Given the description of an element on the screen output the (x, y) to click on. 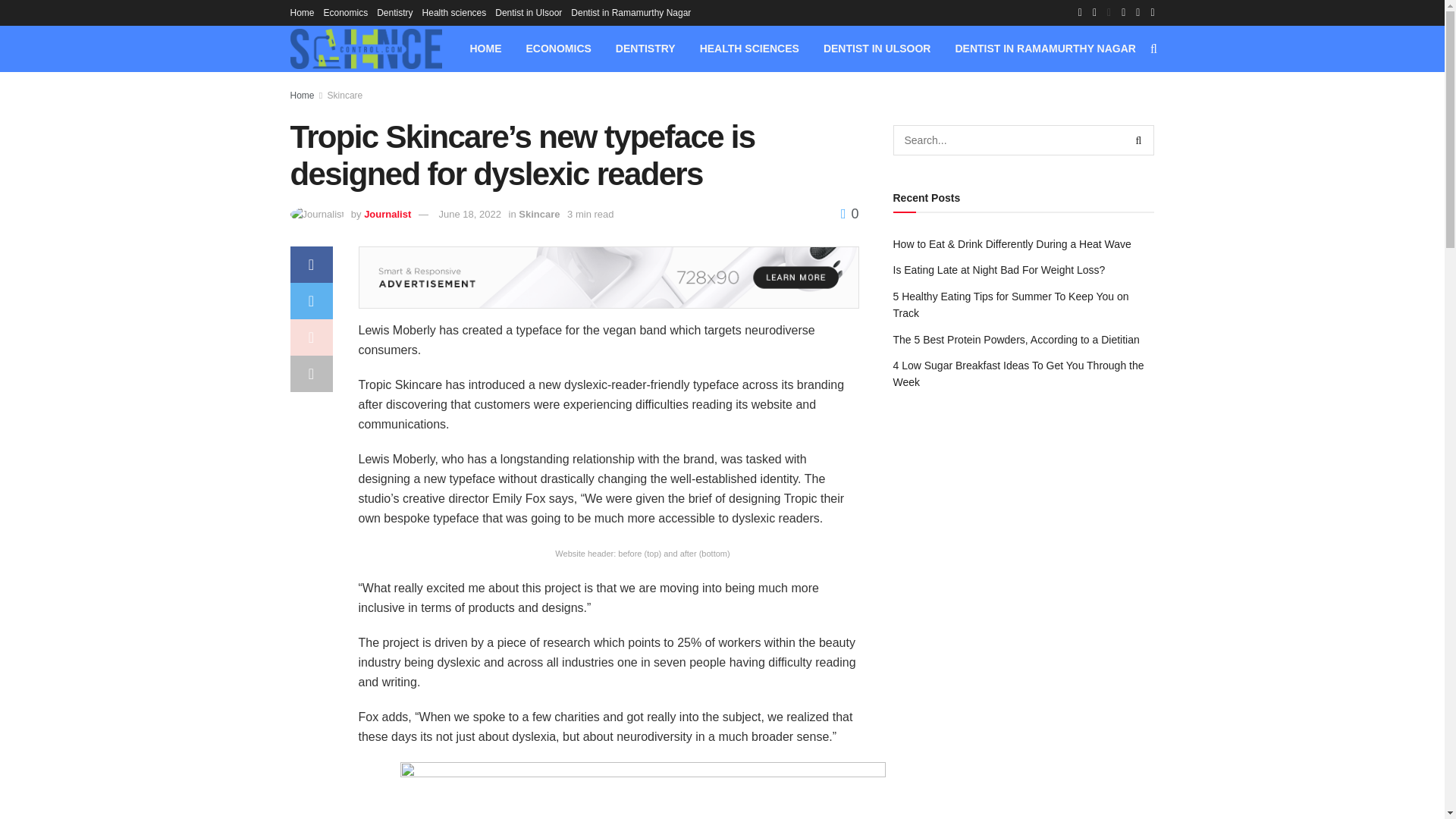
Health sciences (454, 12)
Dentist in Ramamurthy Nagar (630, 12)
ECONOMICS (558, 48)
Dentist in Ulsoor (528, 12)
Home (301, 12)
Dentistry (394, 12)
HOME (485, 48)
Economics (345, 12)
